Given the description of an element on the screen output the (x, y) to click on. 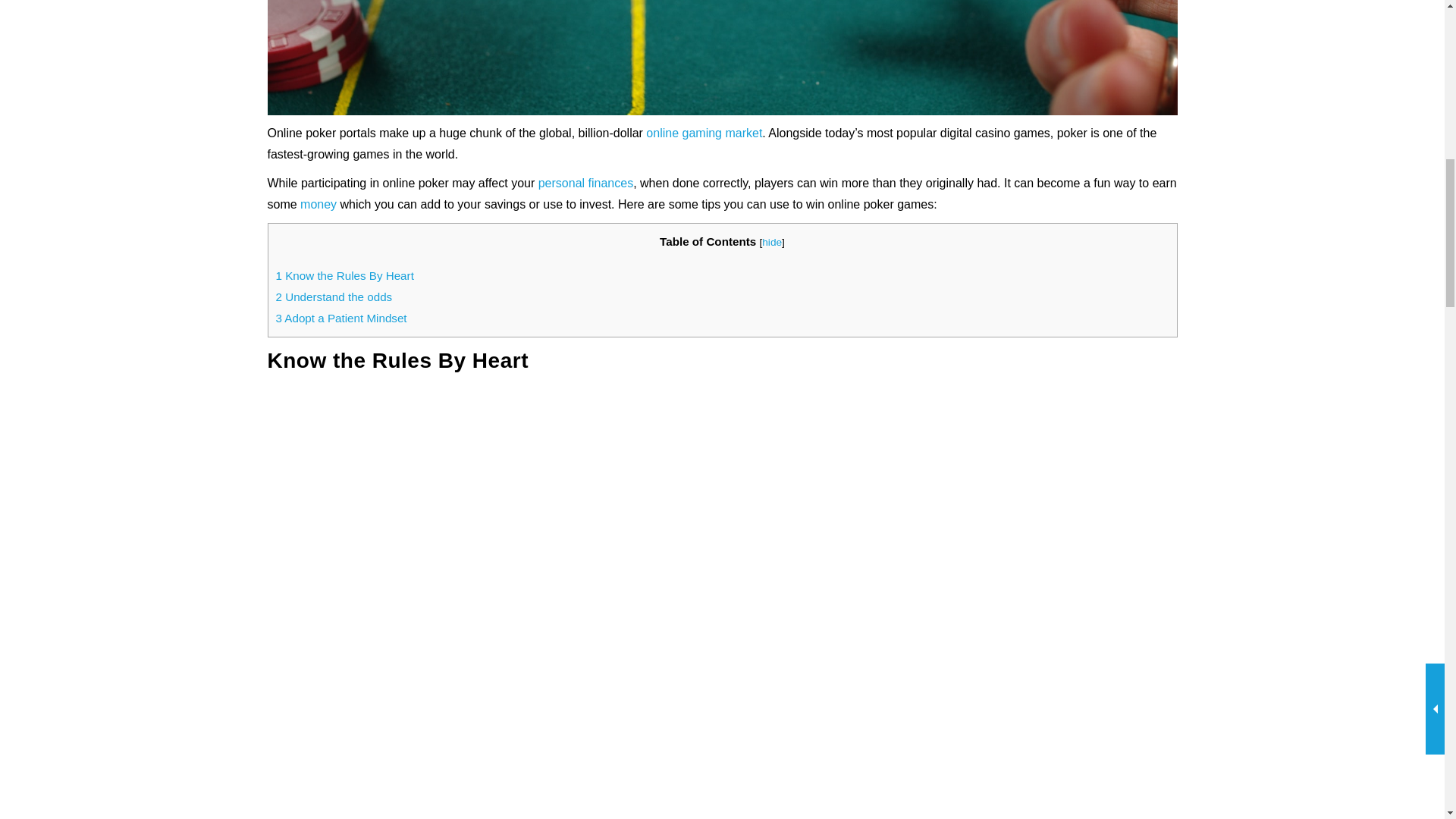
online gaming market (703, 132)
1 Know the Rules By Heart (344, 275)
2 Understand the odds (334, 296)
3 Adopt a Patient Mindset (341, 318)
money (317, 204)
personal finances (585, 182)
hide (771, 242)
